Given the description of an element on the screen output the (x, y) to click on. 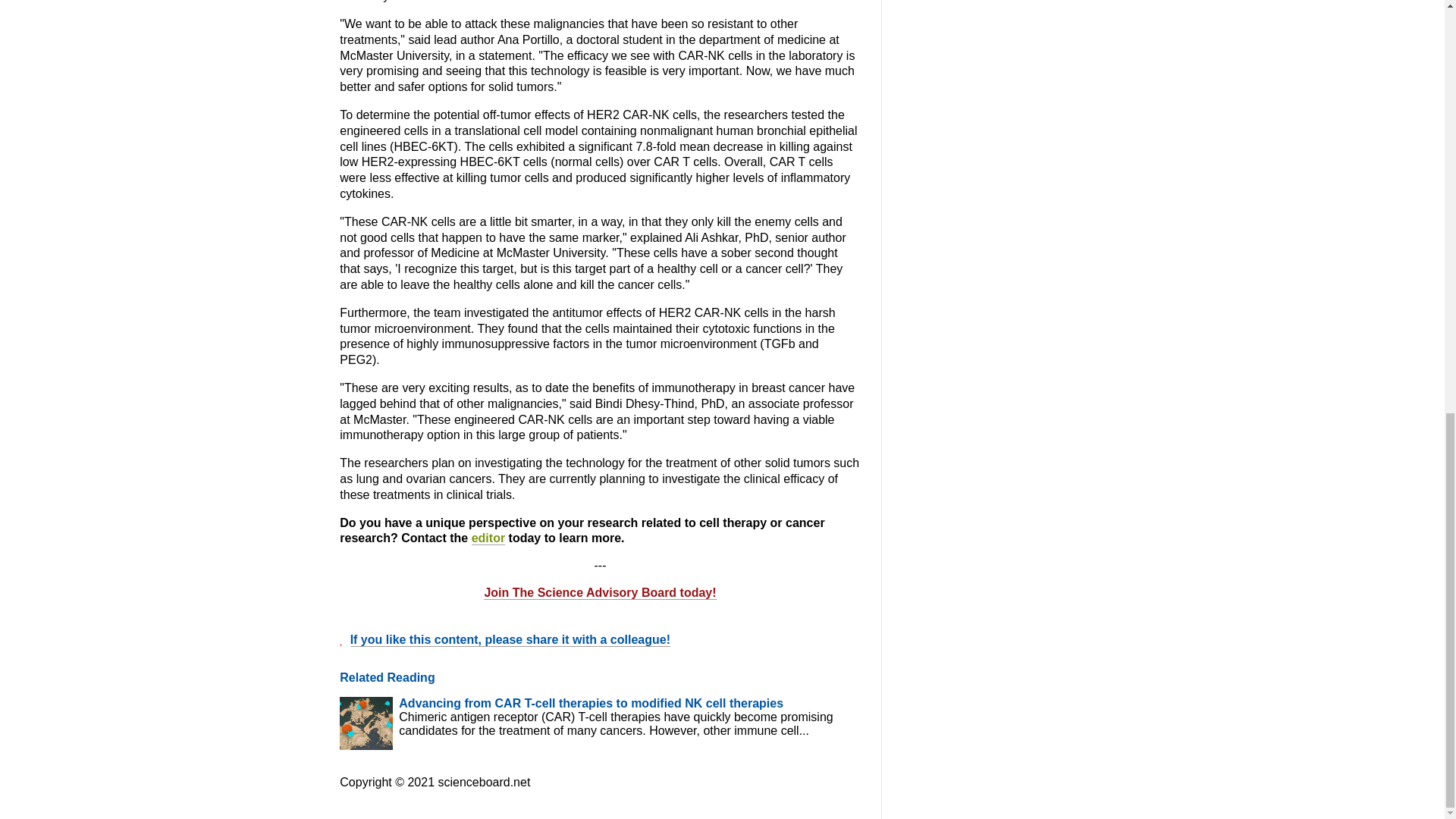
Join The Science Advisory Board today! (599, 592)
editor (488, 538)
If you like this content, please share it with a colleague! (509, 640)
